Given the description of an element on the screen output the (x, y) to click on. 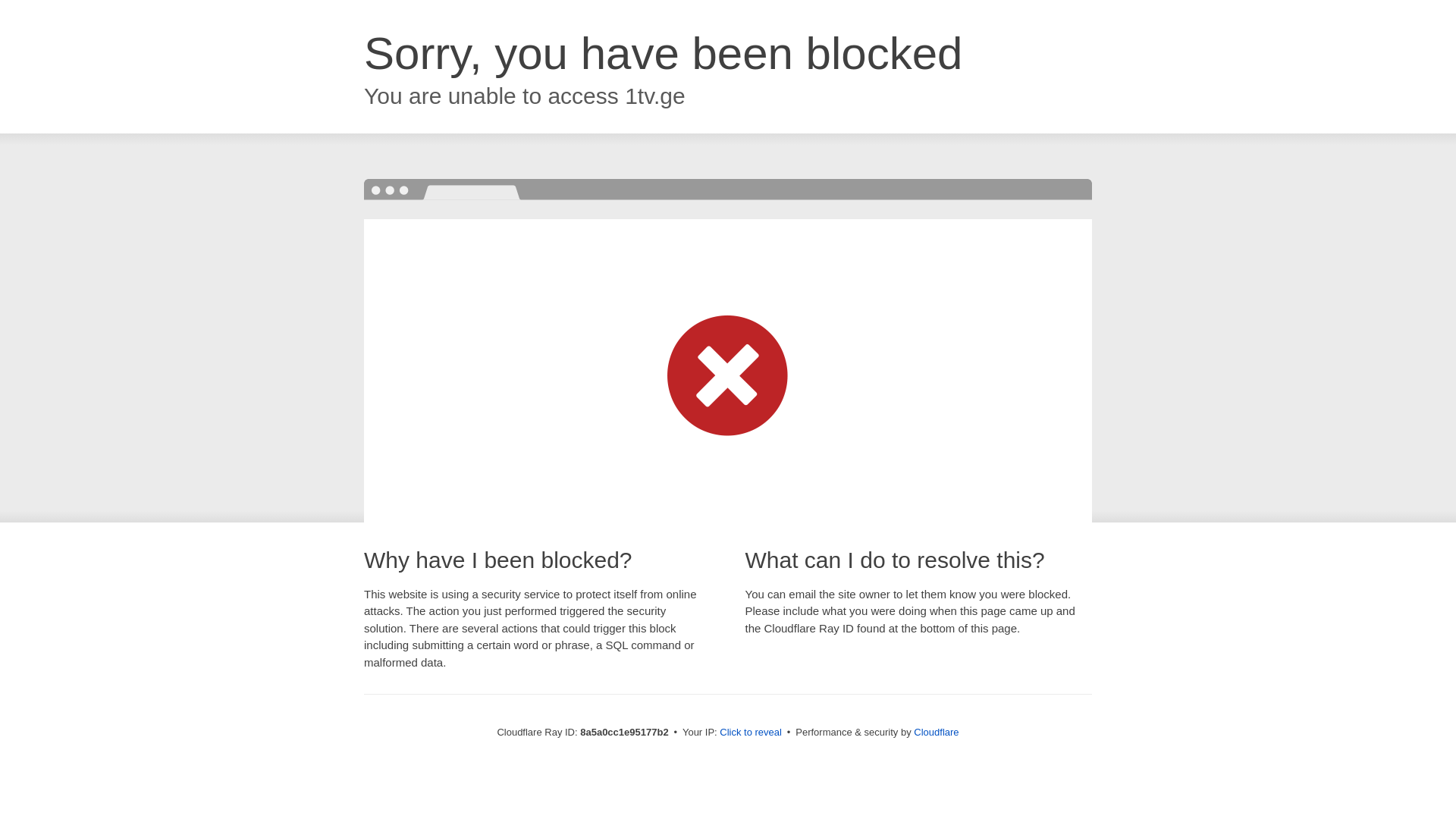
Click to reveal (750, 732)
Cloudflare (936, 731)
